Given the description of an element on the screen output the (x, y) to click on. 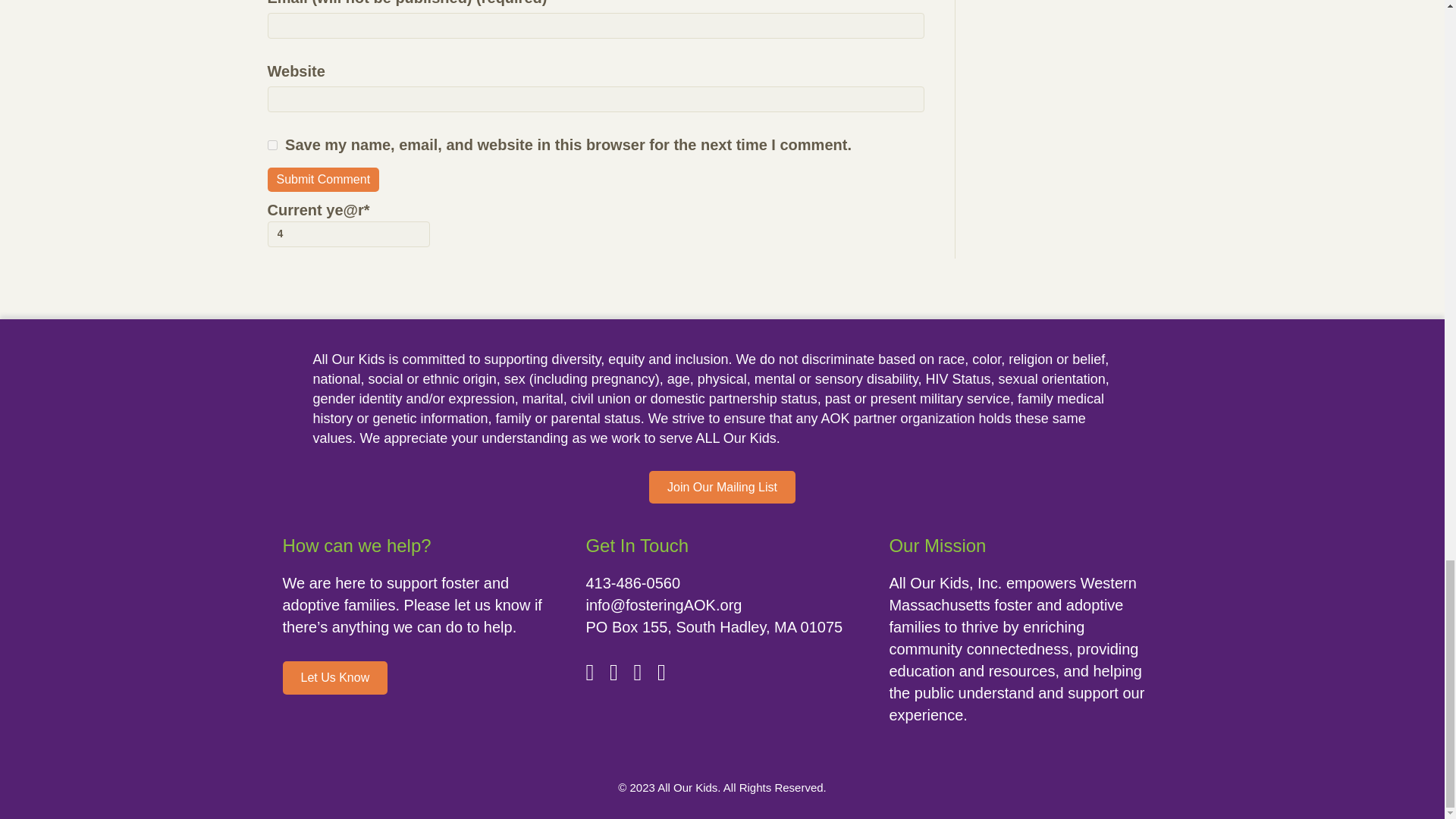
4 (347, 234)
Submit Comment (322, 178)
yes (271, 144)
